Given the description of an element on the screen output the (x, y) to click on. 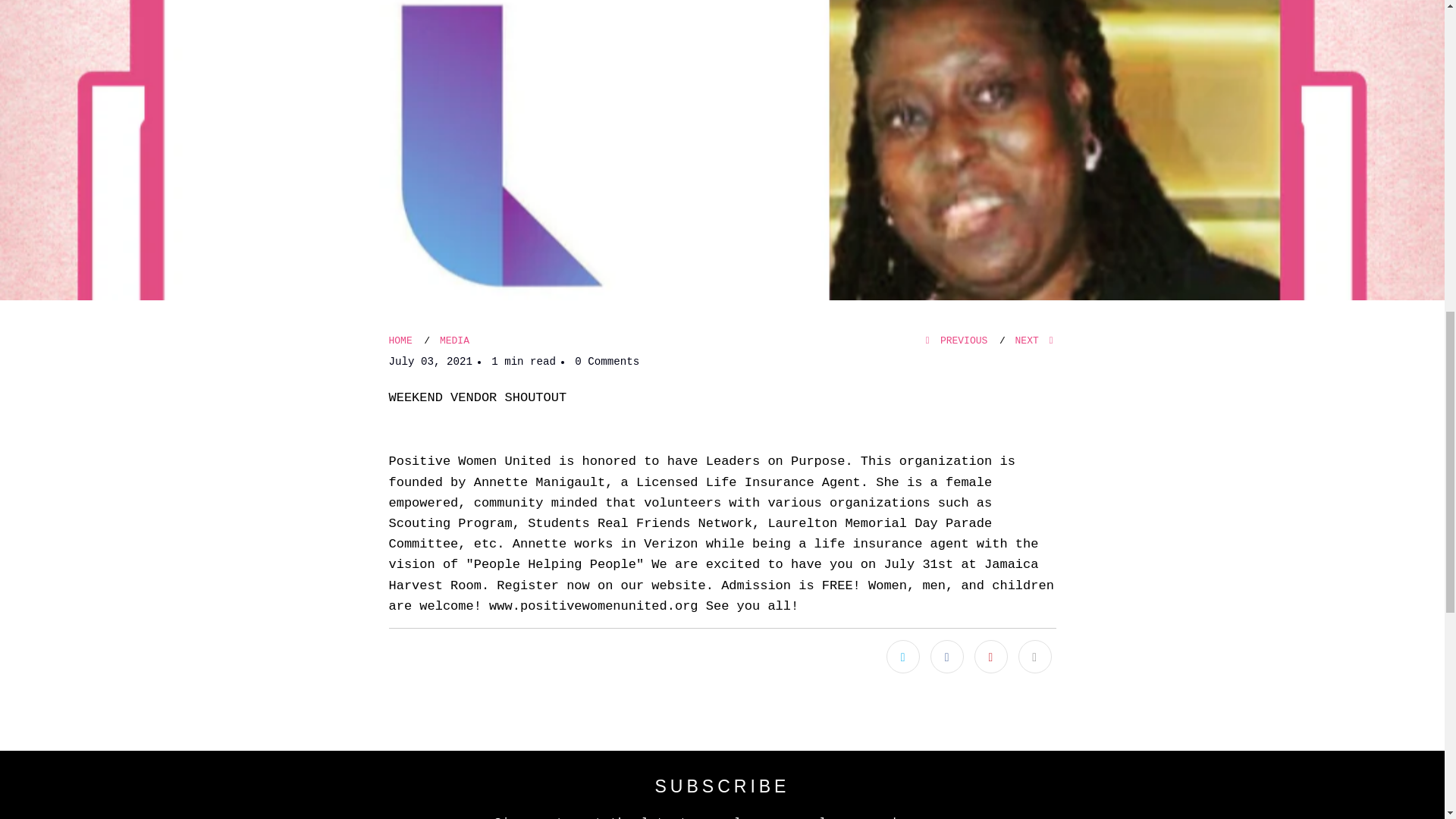
Share this on Facebook (946, 656)
Share this on Pinterest (990, 656)
PositiveWomenUnited Female Empowered Online Shopping Store (400, 340)
Media (453, 340)
Share this on Twitter (903, 656)
Email this to a friend (1034, 656)
